Given the description of an element on the screen output the (x, y) to click on. 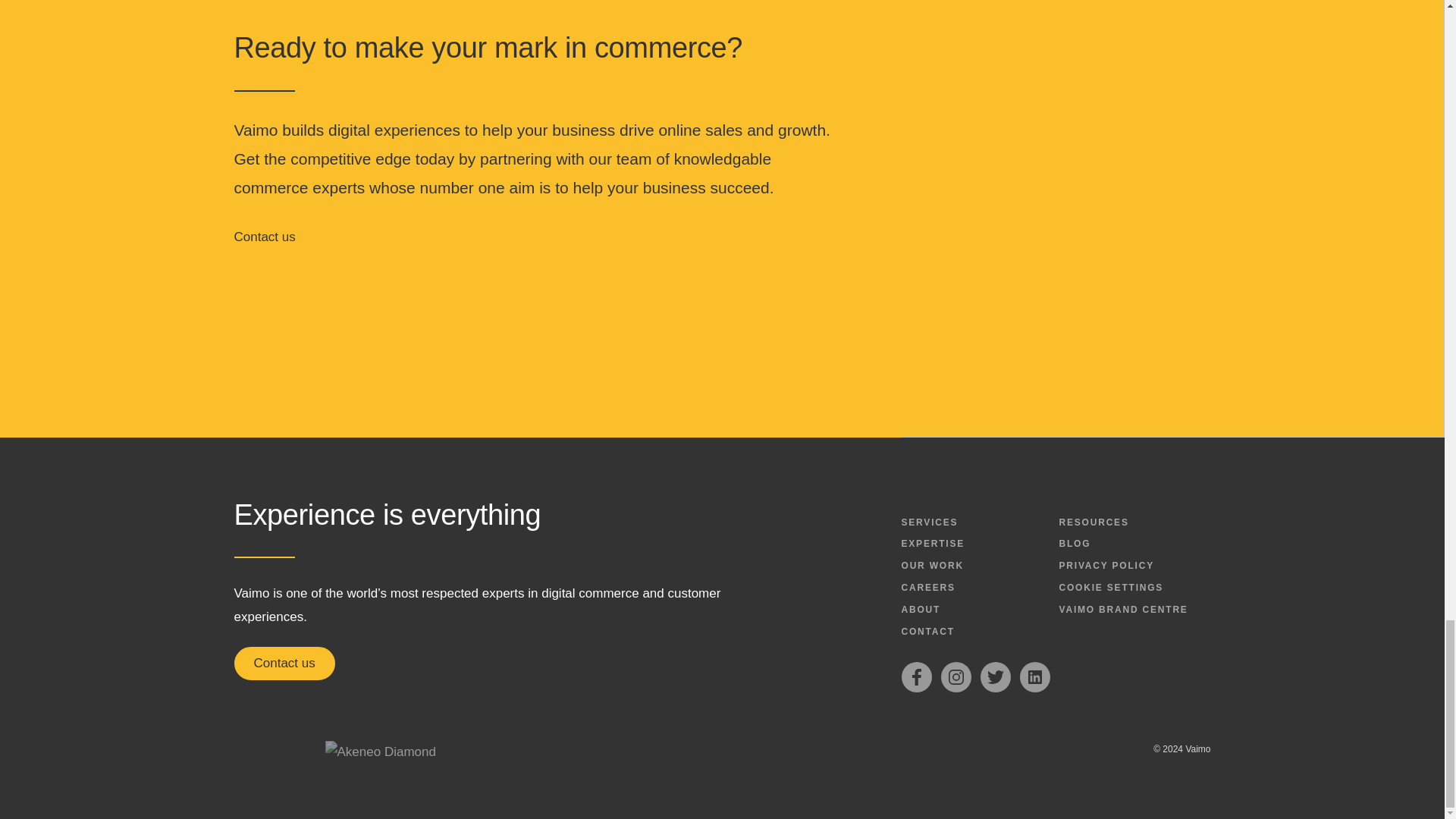
Instagram (955, 676)
LinkedIn (1034, 676)
Facebook (916, 676)
Twitter (994, 676)
